Given the description of an element on the screen output the (x, y) to click on. 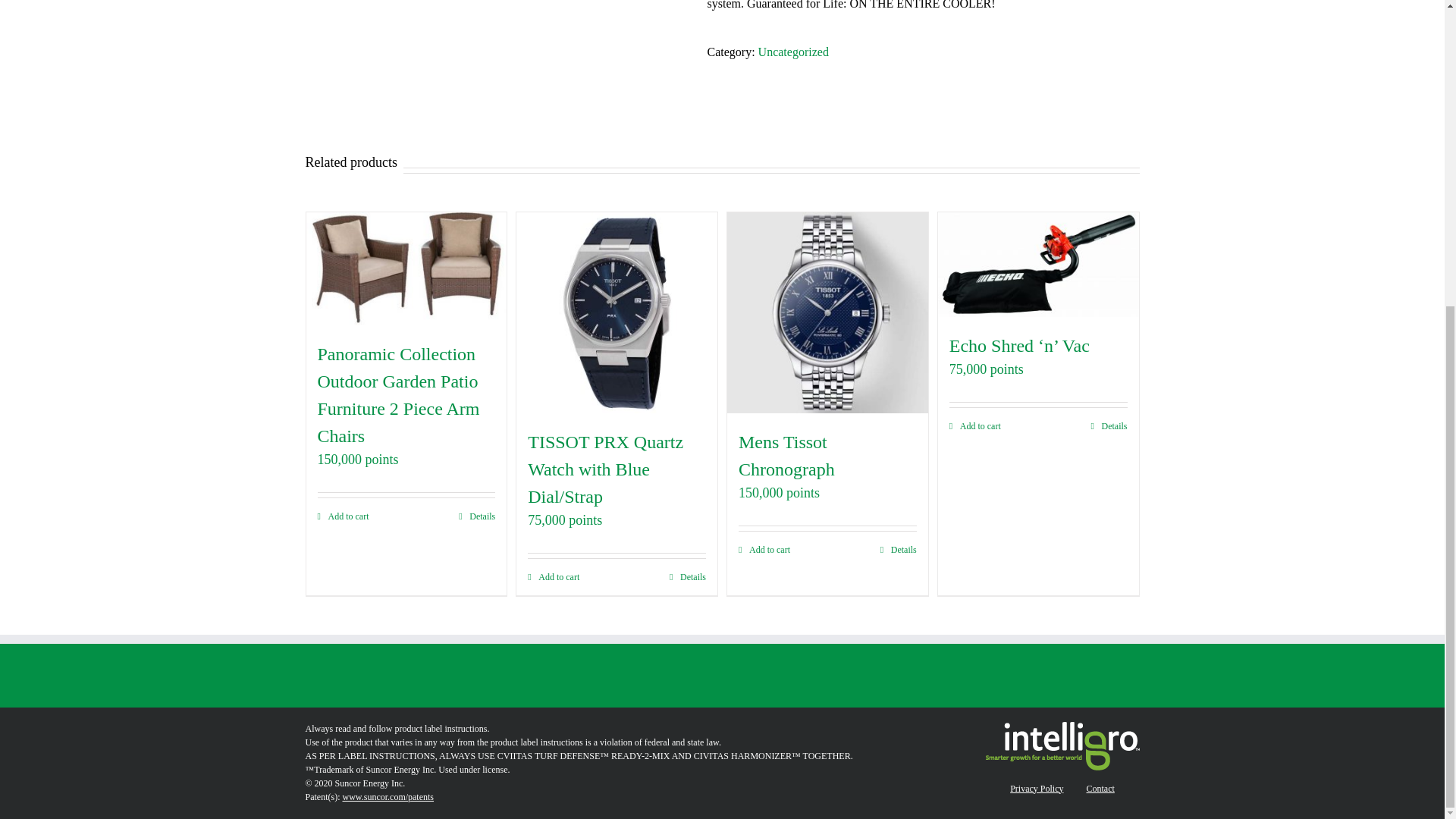
Add to cart (342, 516)
Add to cart (553, 576)
Details (687, 576)
Details (476, 516)
Uncategorized (793, 51)
